Given the description of an element on the screen output the (x, y) to click on. 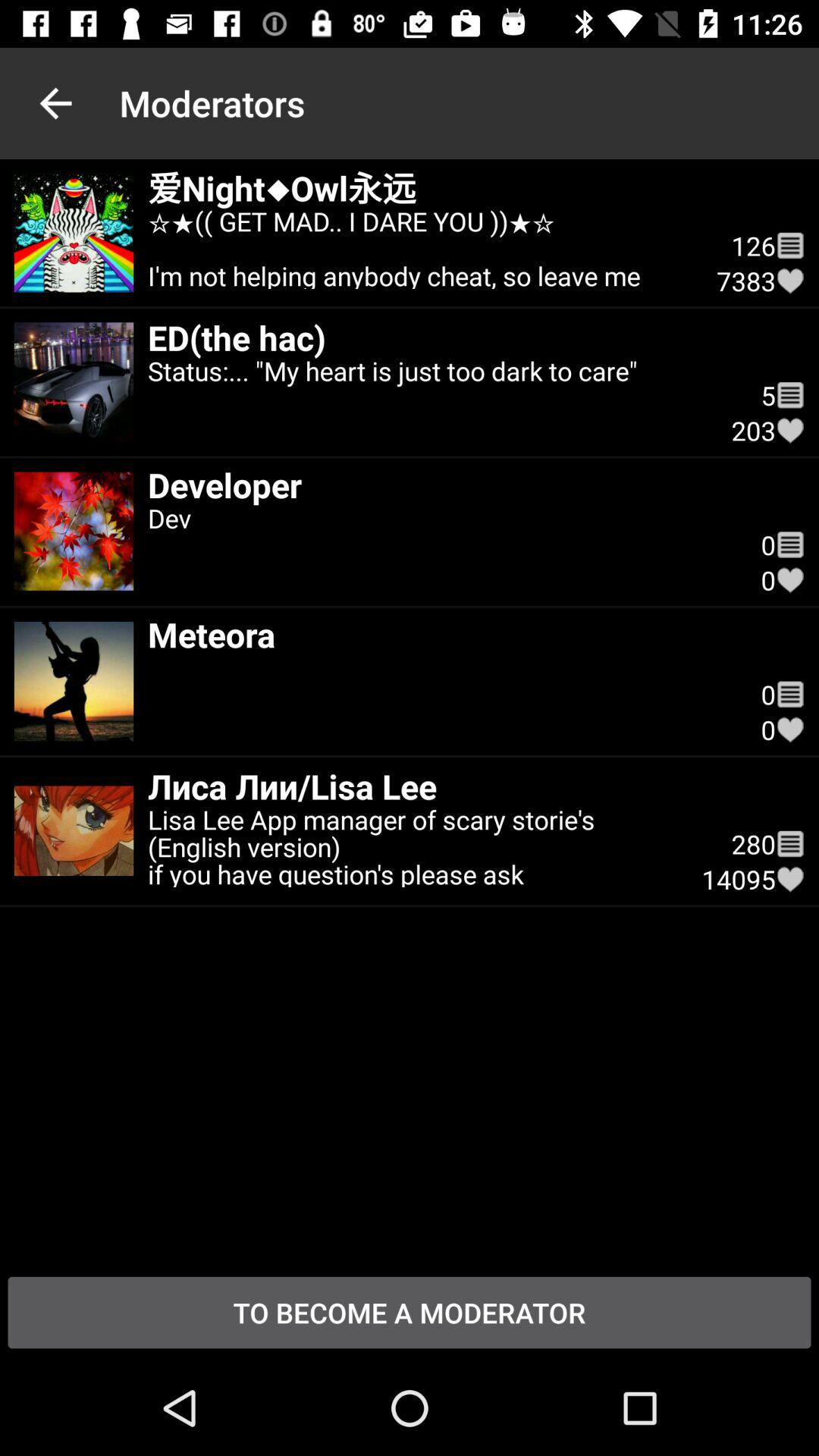
tap the icon next to the 280 item (789, 843)
